Given the description of an element on the screen output the (x, y) to click on. 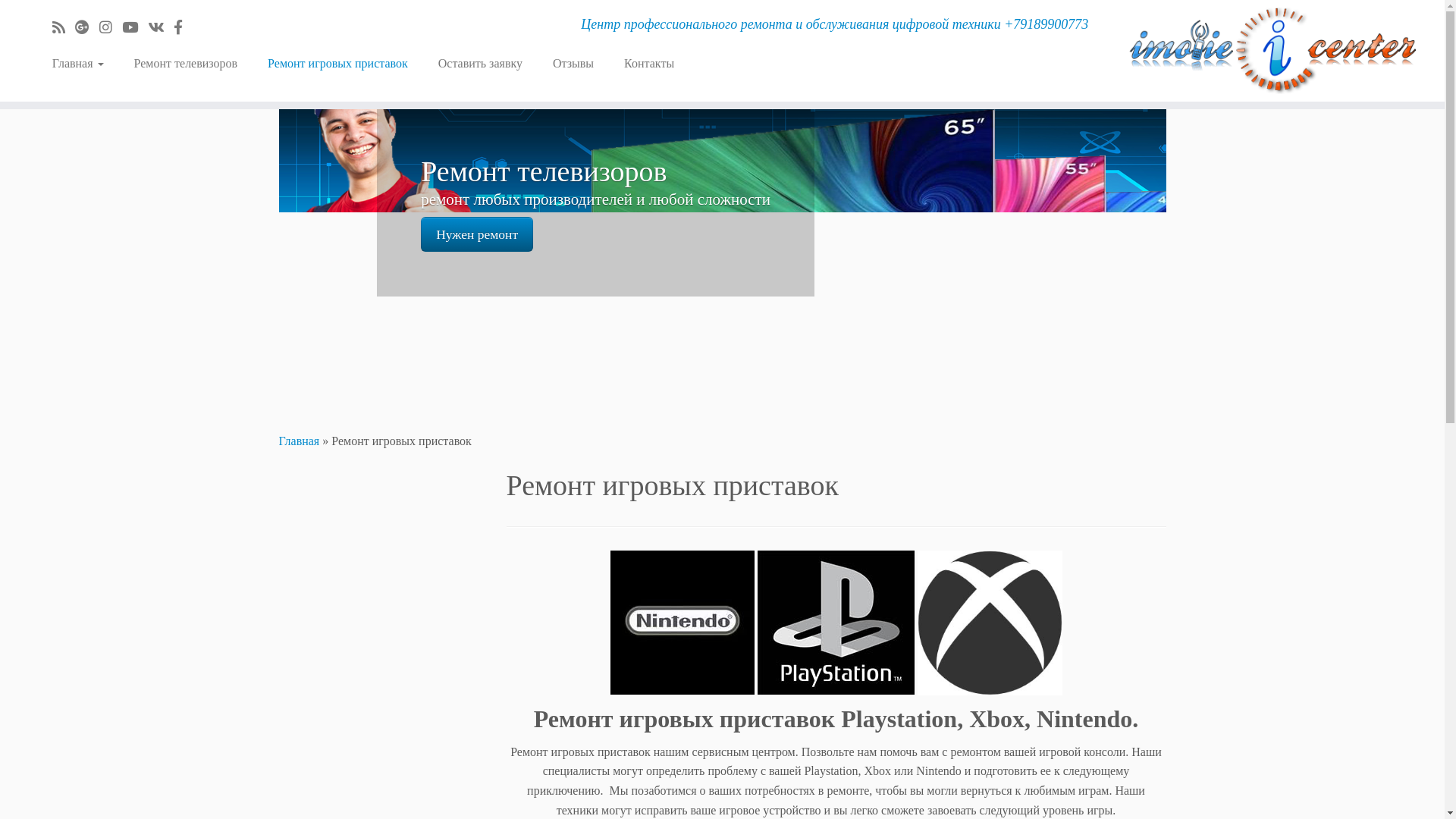
Follow us on Google-plus Element type: hover (87, 27)
Follow us on Instagram Element type: hover (110, 27)
Follow us on Vk Element type: hover (160, 27)
Follow us on Youtube Element type: hover (134, 27)
Follow us on Facebook-official Element type: hover (182, 27)
